Given the description of an element on the screen output the (x, y) to click on. 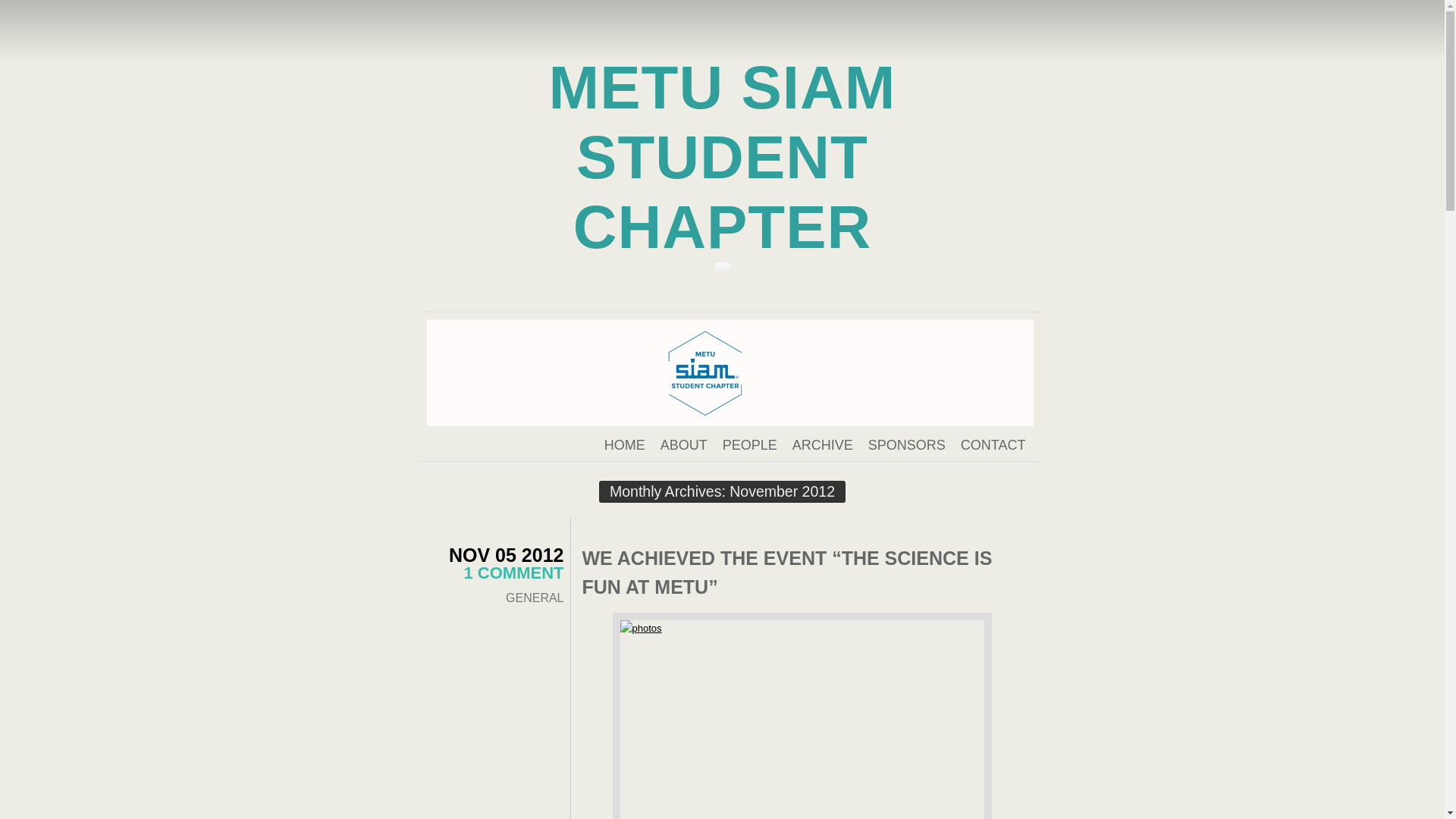
METU SIAM Student Chapter (722, 157)
ARCHIVE (822, 444)
PEOPLE (749, 444)
ABOUT (684, 444)
NOV 05 2012 (506, 554)
HOME (624, 444)
METU SIAM STUDENT CHAPTER (722, 157)
CONTACT (993, 444)
1 COMMENT (514, 572)
SPONSORS (905, 444)
GENERAL (534, 597)
